Given the description of an element on the screen output the (x, y) to click on. 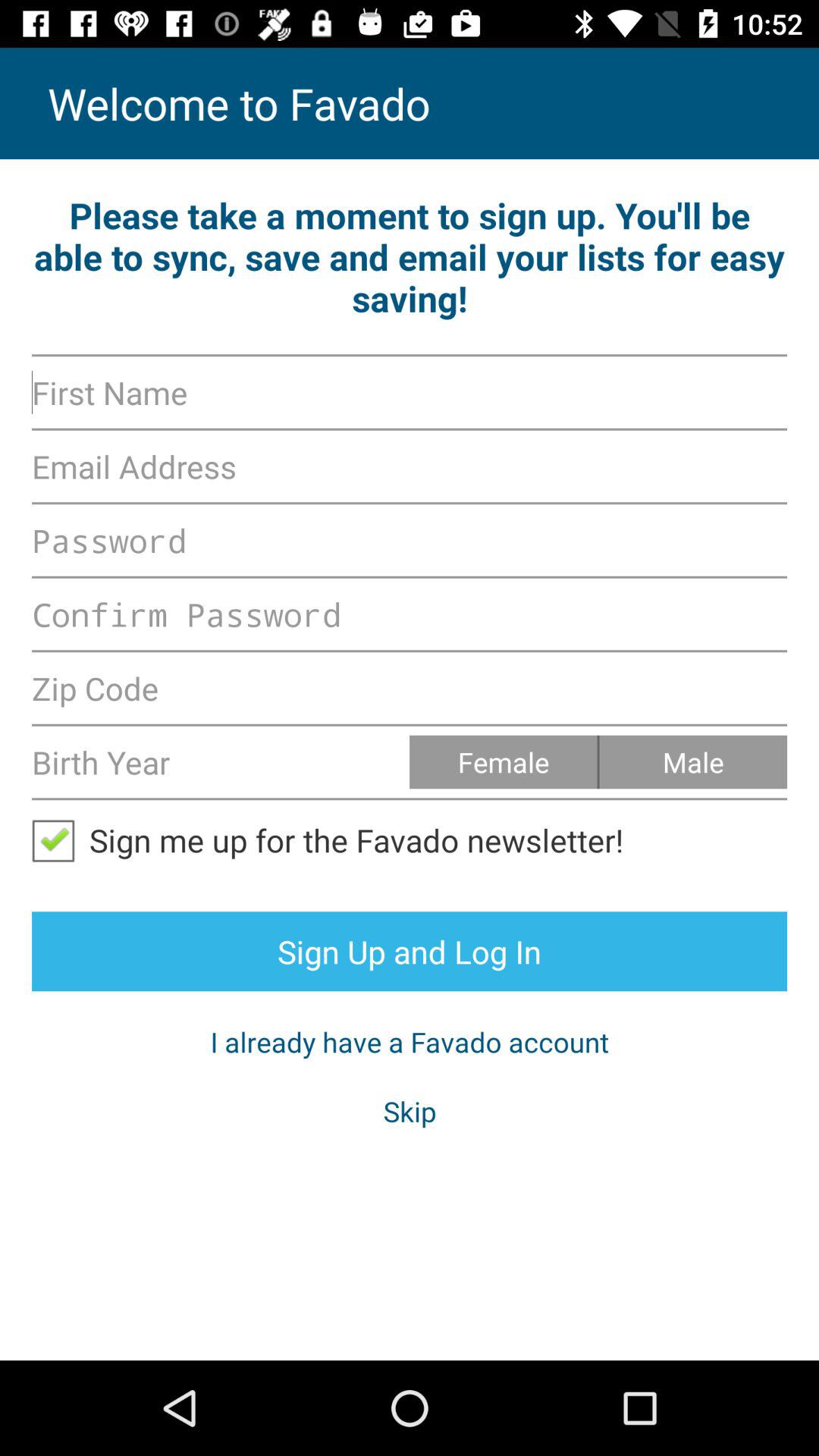
open field to enter zip code (409, 688)
